Given the description of an element on the screen output the (x, y) to click on. 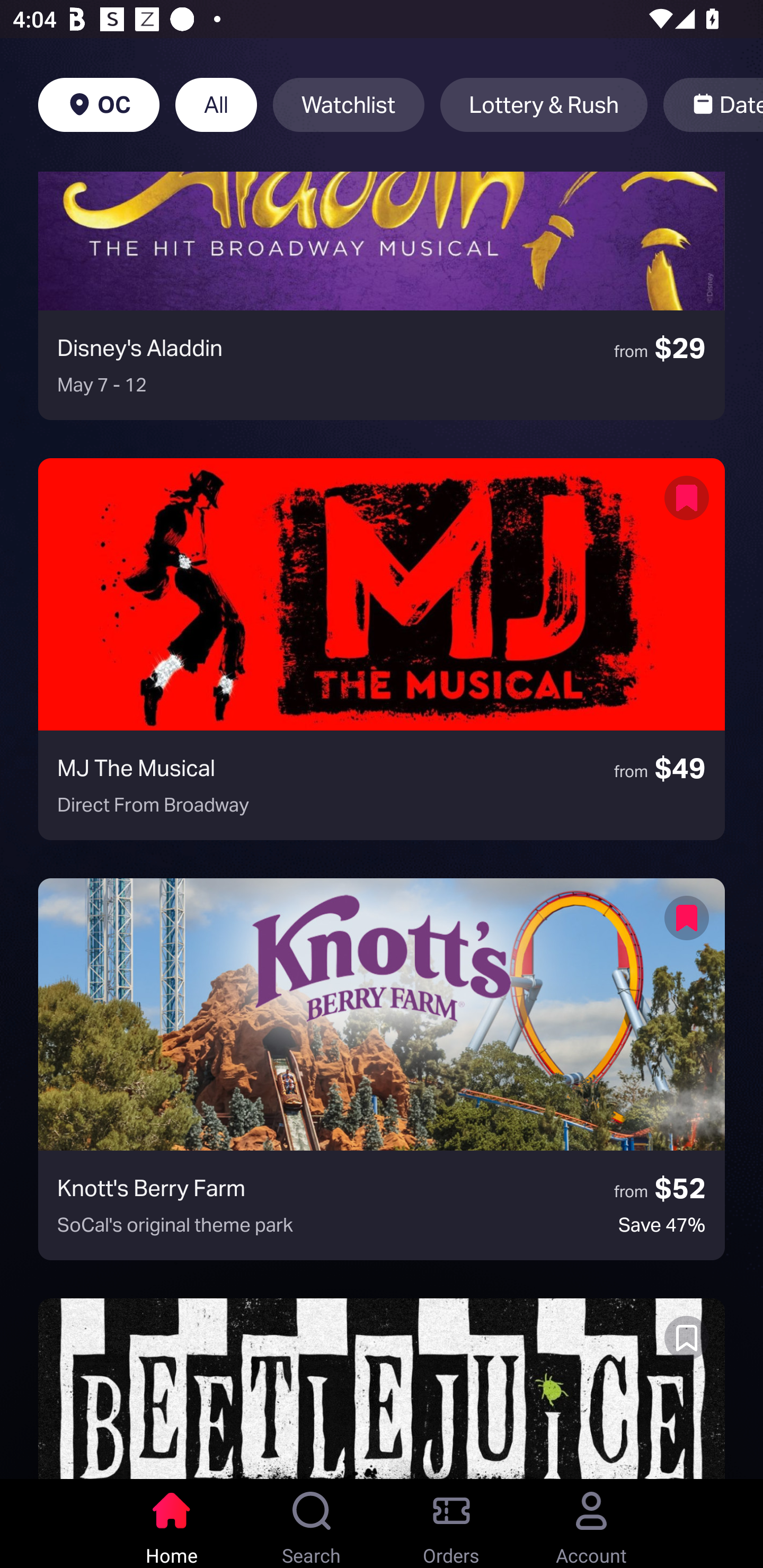
OC (98, 104)
All (216, 104)
Watchlist (348, 104)
Lottery & Rush (543, 104)
Disney's Aladdin from $29 May 7 - 12 (381, 295)
MJ The Musical from $49 Direct From Broadway (381, 648)
Search (311, 1523)
Orders (451, 1523)
Account (591, 1523)
